Given the description of an element on the screen output the (x, y) to click on. 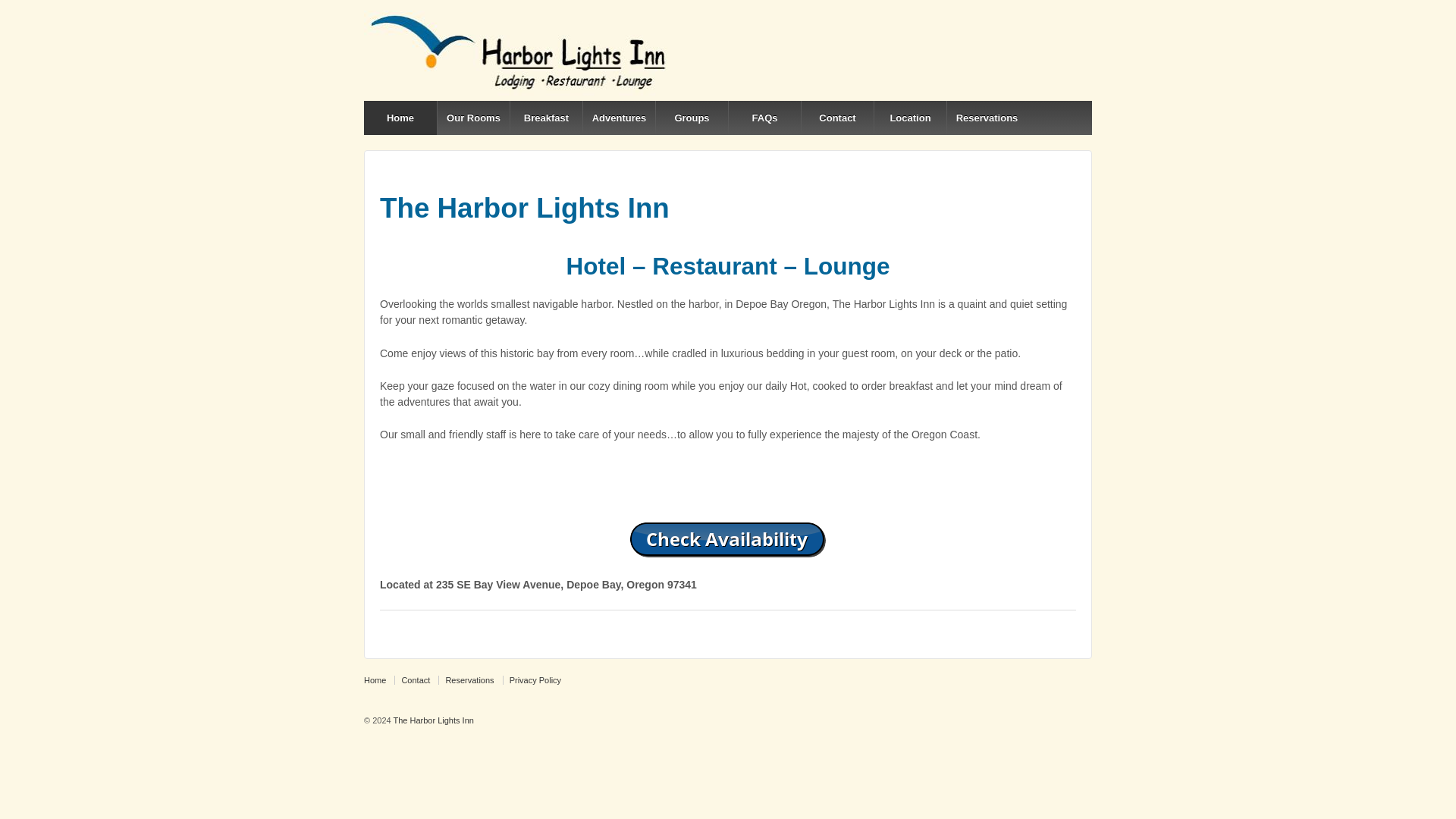
Home (400, 117)
Breakfast (545, 117)
Adventures (618, 117)
Home (377, 679)
Contact (414, 679)
FAQs (764, 117)
Reservations (468, 679)
Groups (691, 117)
Privacy Policy (534, 679)
Our Rooms (472, 117)
Reservations (982, 117)
The Harbor Lights Inn (432, 719)
Contact (836, 117)
Location (909, 117)
The Harbor Lights Inn (432, 719)
